Given the description of an element on the screen output the (x, y) to click on. 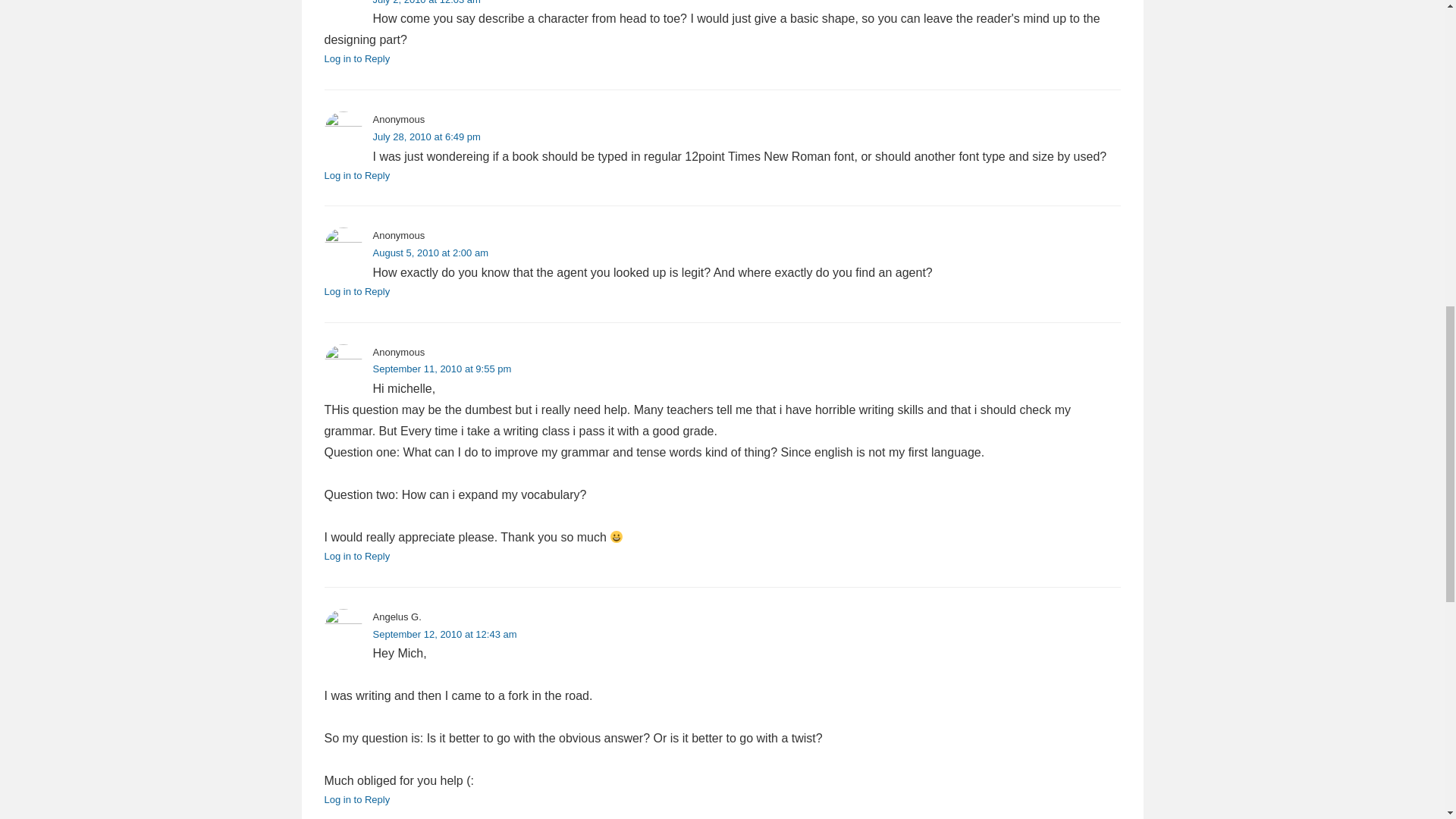
Log in to Reply (357, 58)
July 28, 2010 at 6:49 pm (426, 136)
September 11, 2010 at 9:55 pm (442, 368)
Log in to Reply (357, 555)
Log in to Reply (357, 174)
July 2, 2010 at 12:03 am (426, 2)
Log in to Reply (357, 799)
August 5, 2010 at 2:00 am (430, 252)
Log in to Reply (357, 291)
September 12, 2010 at 12:43 am (444, 633)
